Given the description of an element on the screen output the (x, y) to click on. 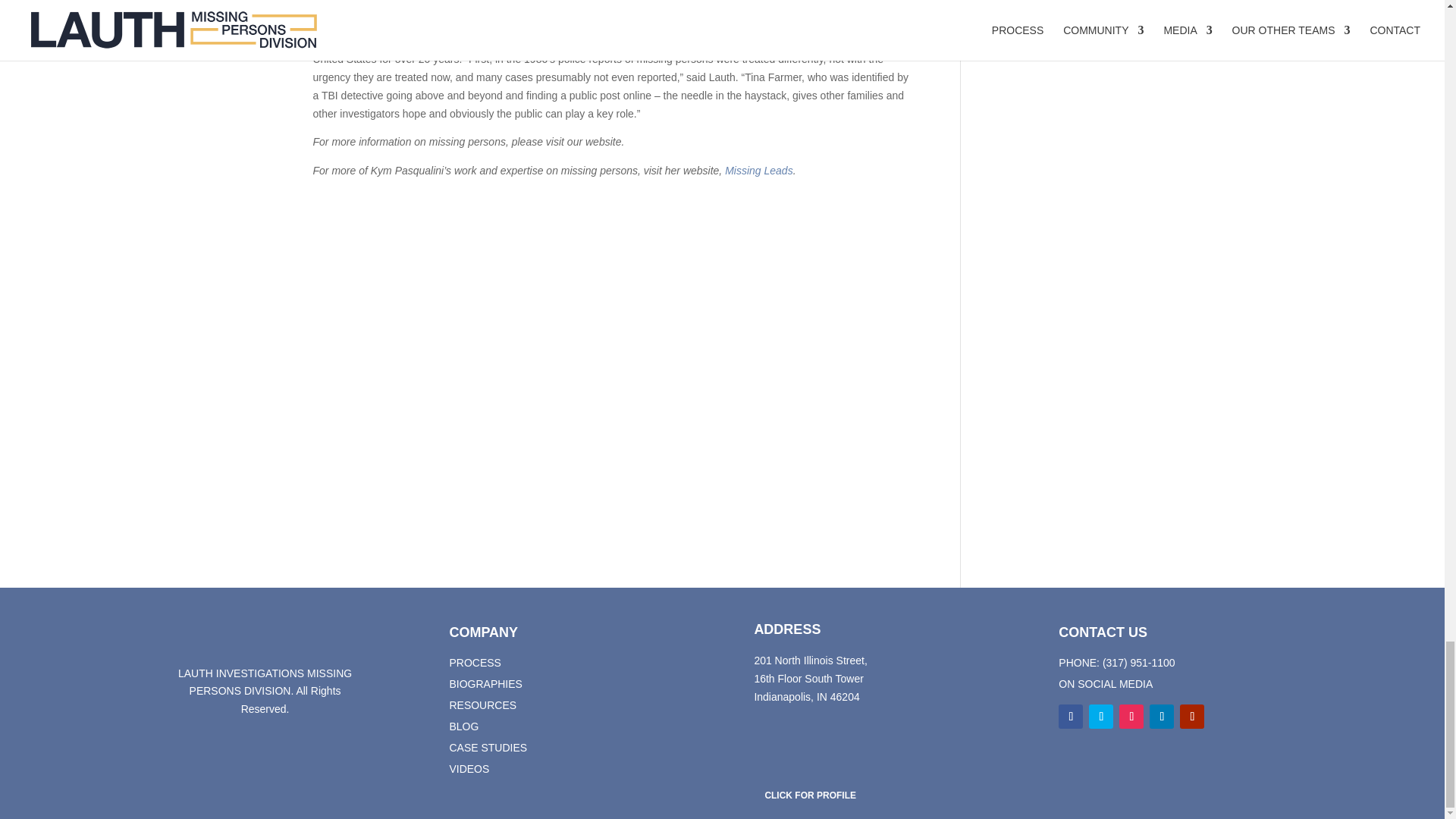
RESOURCES (482, 705)
PROCESS (474, 662)
CASE STUDIES (487, 747)
Lauth Missing Persons (596, 40)
VIDEOS (468, 768)
Follow on Instagram (1130, 716)
Follow on Twitter (1101, 716)
Follow on Youtube (1191, 716)
Follow on Facebook (1070, 716)
BLOG (463, 726)
Follow on LinkedIn (1161, 716)
BIOGRAPHIES (484, 684)
lauth-missing-persons-white (264, 632)
Missing Leads (759, 170)
